Given the description of an element on the screen output the (x, y) to click on. 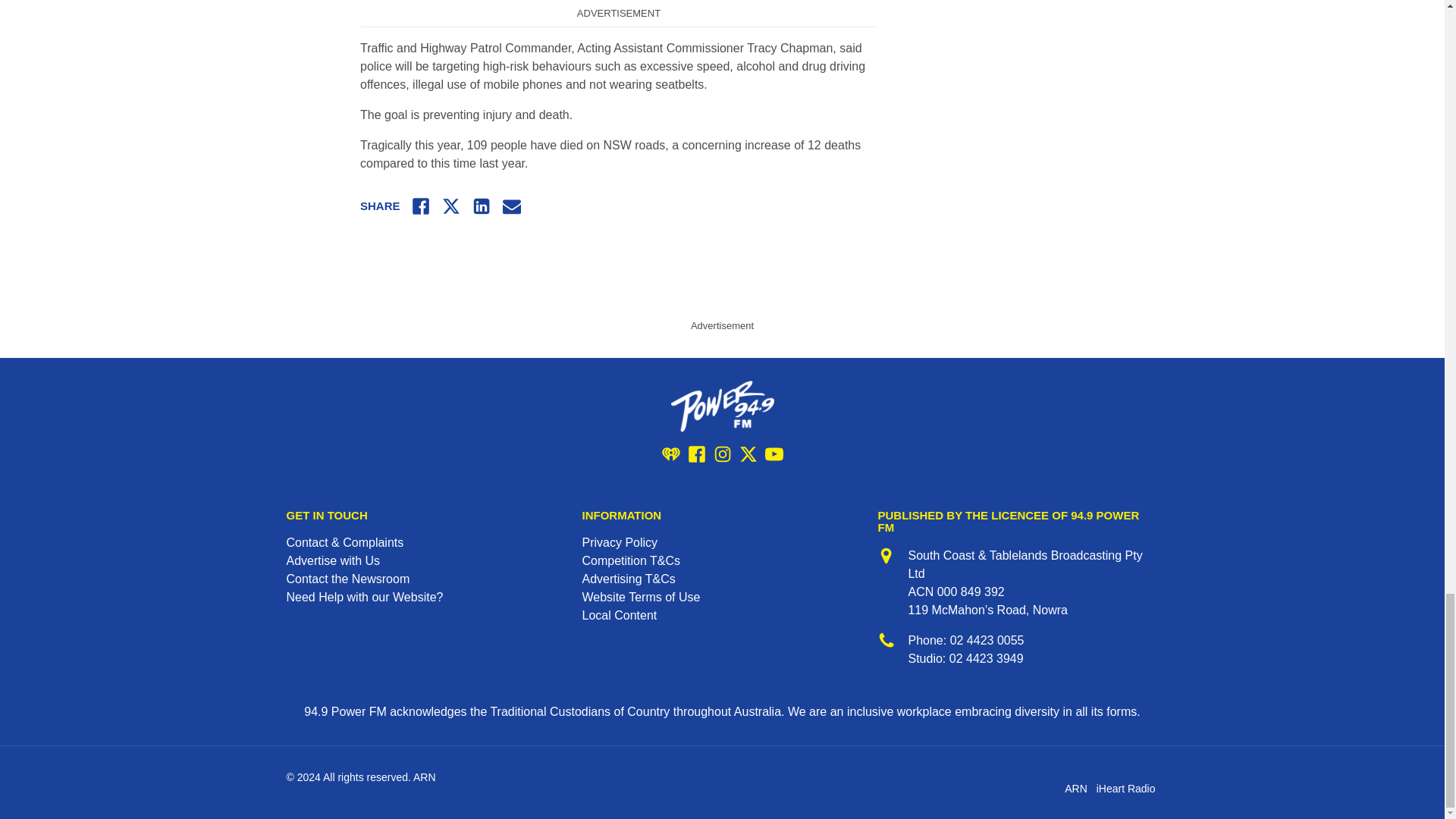
3rd party ad content (721, 279)
